Given the description of an element on the screen output the (x, y) to click on. 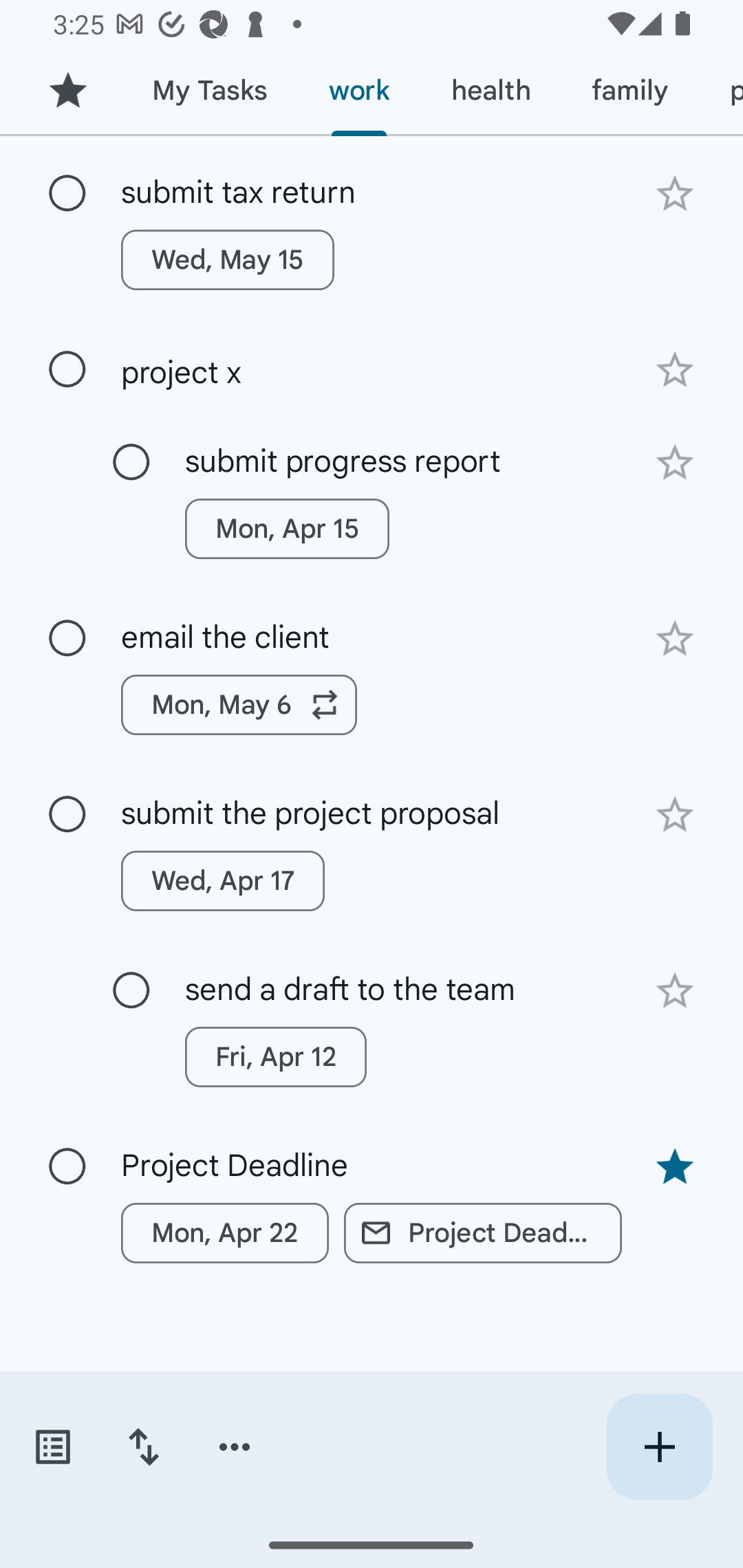
Starred (67, 90)
My Tasks (209, 90)
health (490, 90)
family (629, 90)
Add star (674, 193)
Mark as complete (67, 193)
Wed, May 15 (227, 259)
Add star (674, 369)
Mark as complete (67, 369)
Add star (674, 462)
Mark as complete (131, 463)
Mon, Apr 15 (287, 527)
Add star (674, 638)
Mark as complete (67, 638)
Mon, May 6 (239, 705)
Add star (674, 814)
Mark as complete (67, 814)
Wed, Apr 17 (222, 880)
Add star (674, 990)
Mark as complete (131, 990)
Fri, Apr 12 (276, 1056)
Remove star (674, 1166)
Mark as complete (67, 1167)
Mon, Apr 22 (225, 1231)
Project Deadline Related link (482, 1231)
Switch task lists (52, 1447)
Create new task (659, 1446)
Change sort order (143, 1446)
More options (234, 1446)
